Given the description of an element on the screen output the (x, y) to click on. 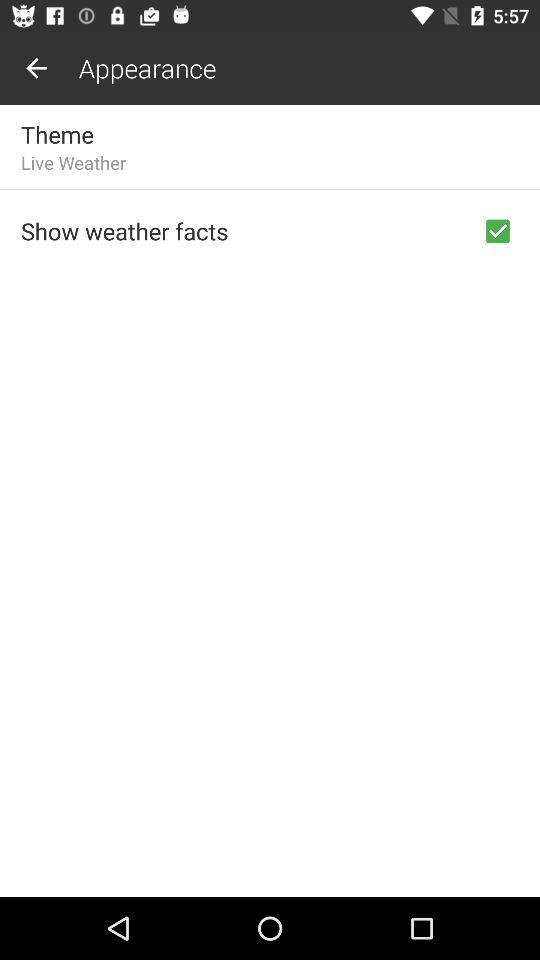
choose the app next to the appearance (36, 68)
